Given the description of an element on the screen output the (x, y) to click on. 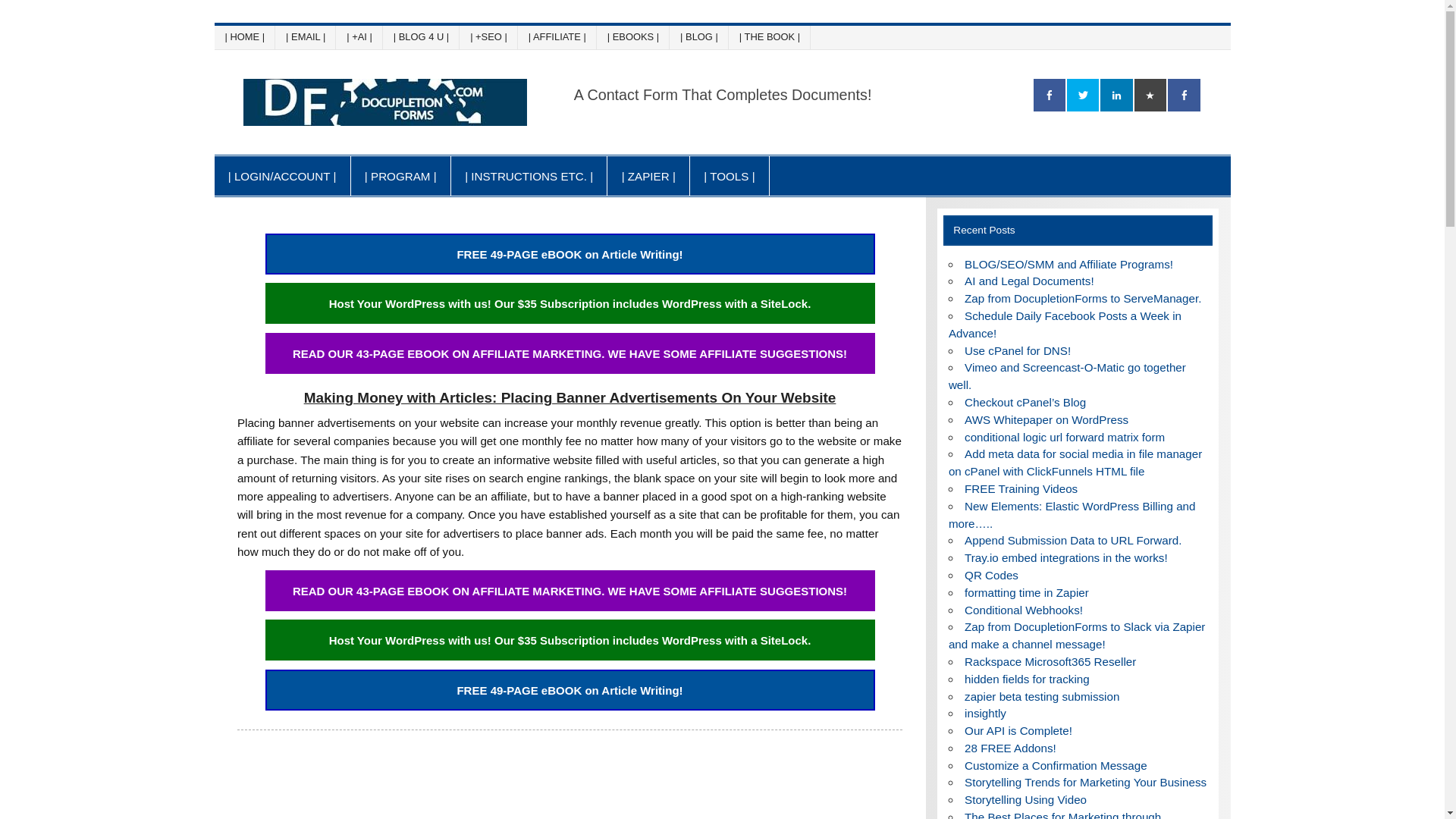
conditional logic url forward matrix form (1063, 436)
FREE 49-PAGE eBOOK on Article Writing! (569, 253)
DOCUPLETIONFORMS.COM (738, 92)
AWS Whitepaper on WordPress (1045, 419)
Schedule Daily Facebook Posts a Week in Advance! (1064, 324)
Zap from DocupletionForms to ServeManager. (1082, 297)
FREE 49-PAGE eBOOK on Article Writing! (569, 689)
